Given the description of an element on the screen output the (x, y) to click on. 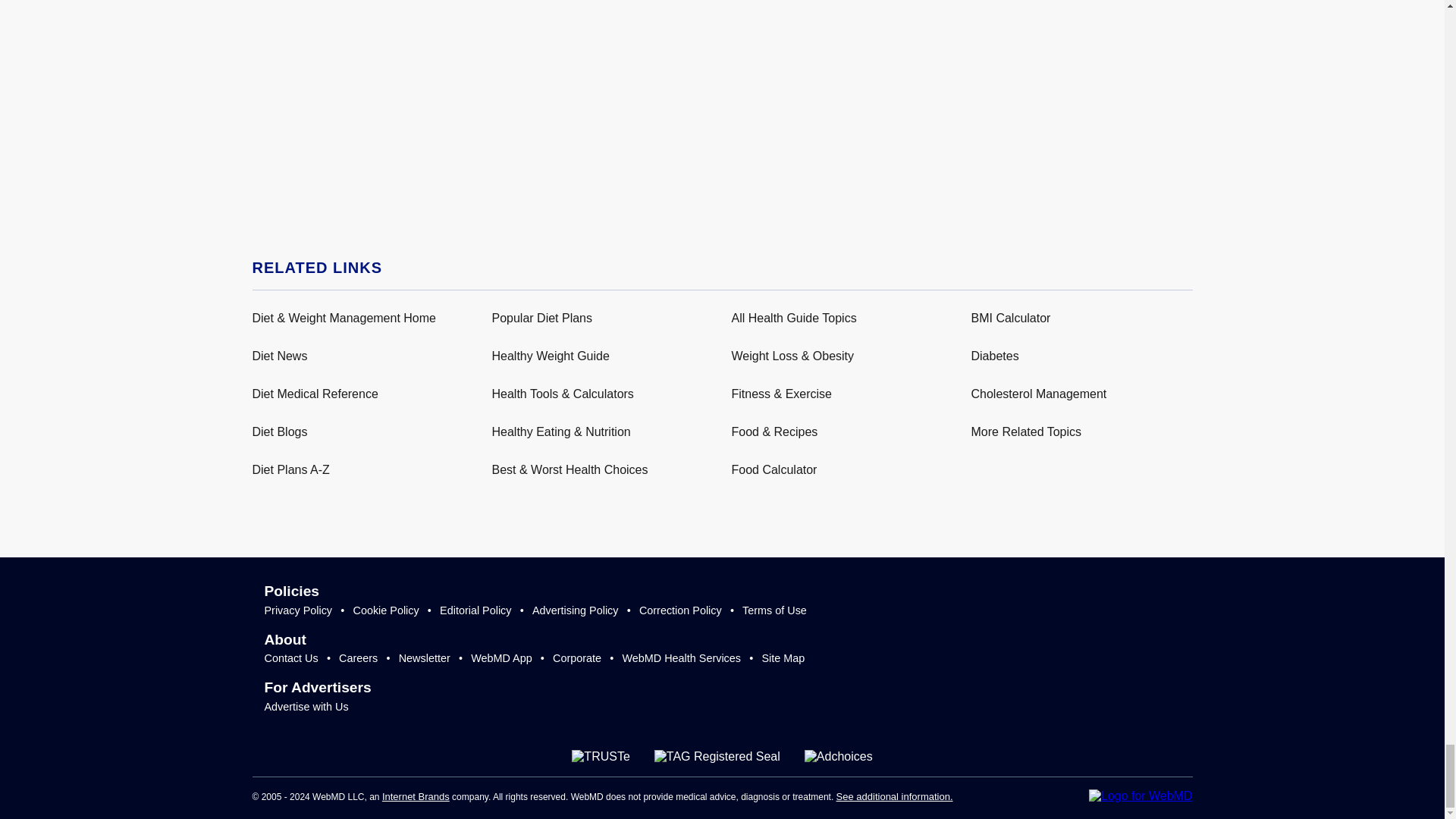
TAG Registered Seal (716, 756)
Adchoices (838, 756)
TRUSTe Privacy Certification (600, 756)
WebMD: Better information. Better health. (1140, 796)
